Given the description of an element on the screen output the (x, y) to click on. 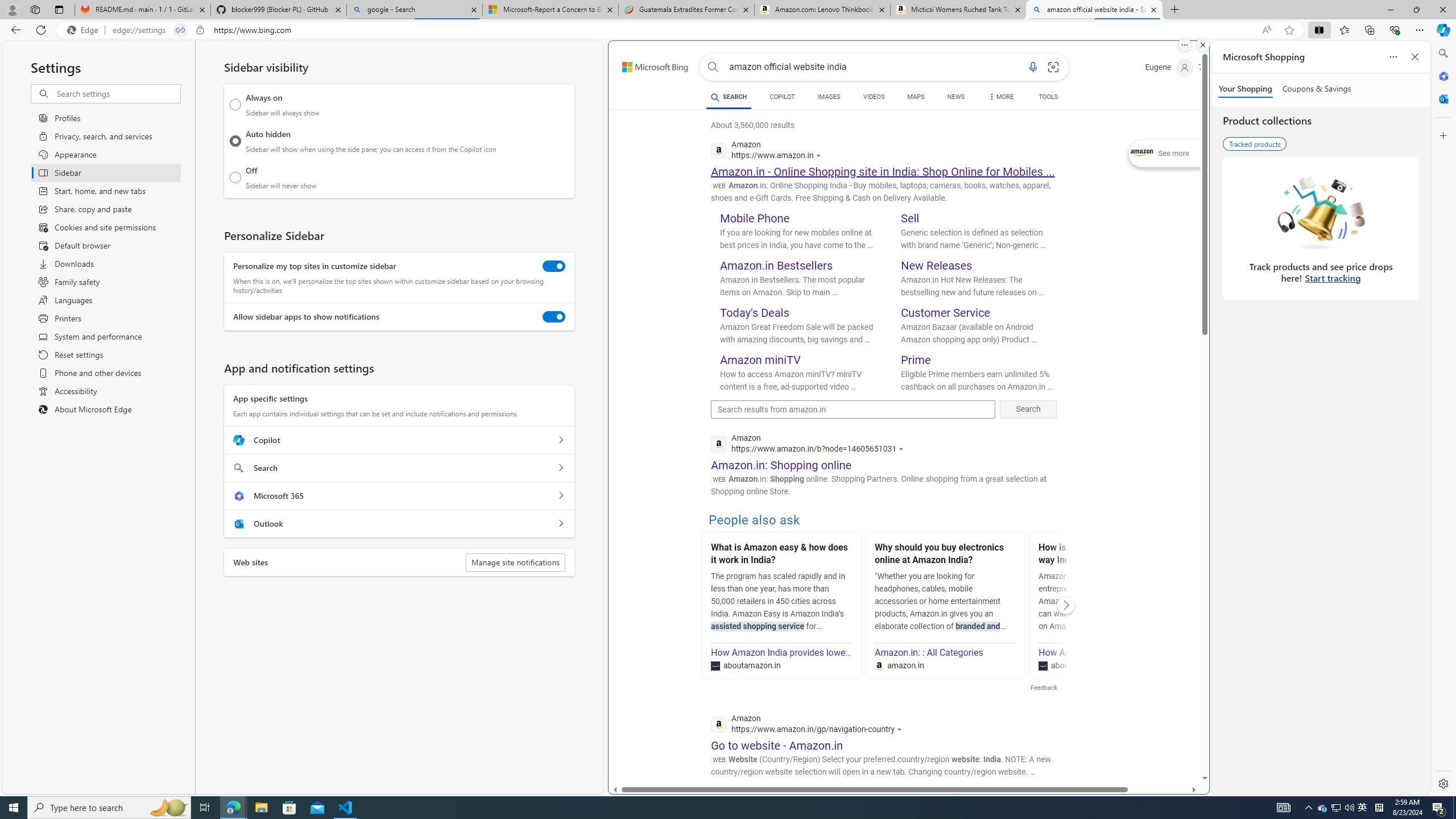
MAPS (915, 96)
MAPS (915, 98)
Prime (915, 359)
COPILOT (781, 96)
Amazon miniTV (760, 359)
NEWS (955, 98)
Copilot (560, 439)
amazon official website india - Search (1094, 9)
